Given the description of an element on the screen output the (x, y) to click on. 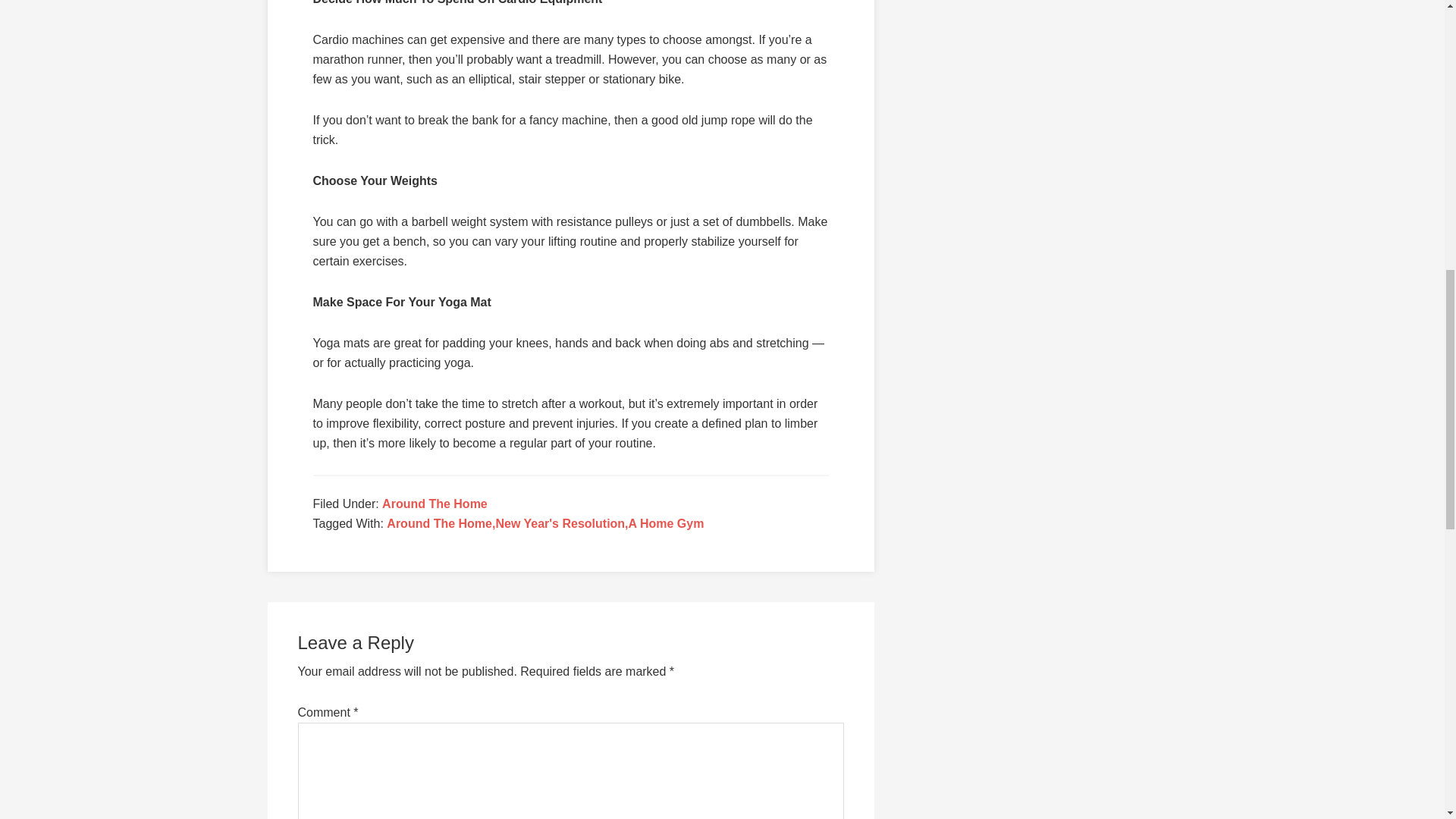
Around The Home (434, 503)
Around The Home,New Year's Resolution,A Home Gym (545, 522)
